Given the description of an element on the screen output the (x, y) to click on. 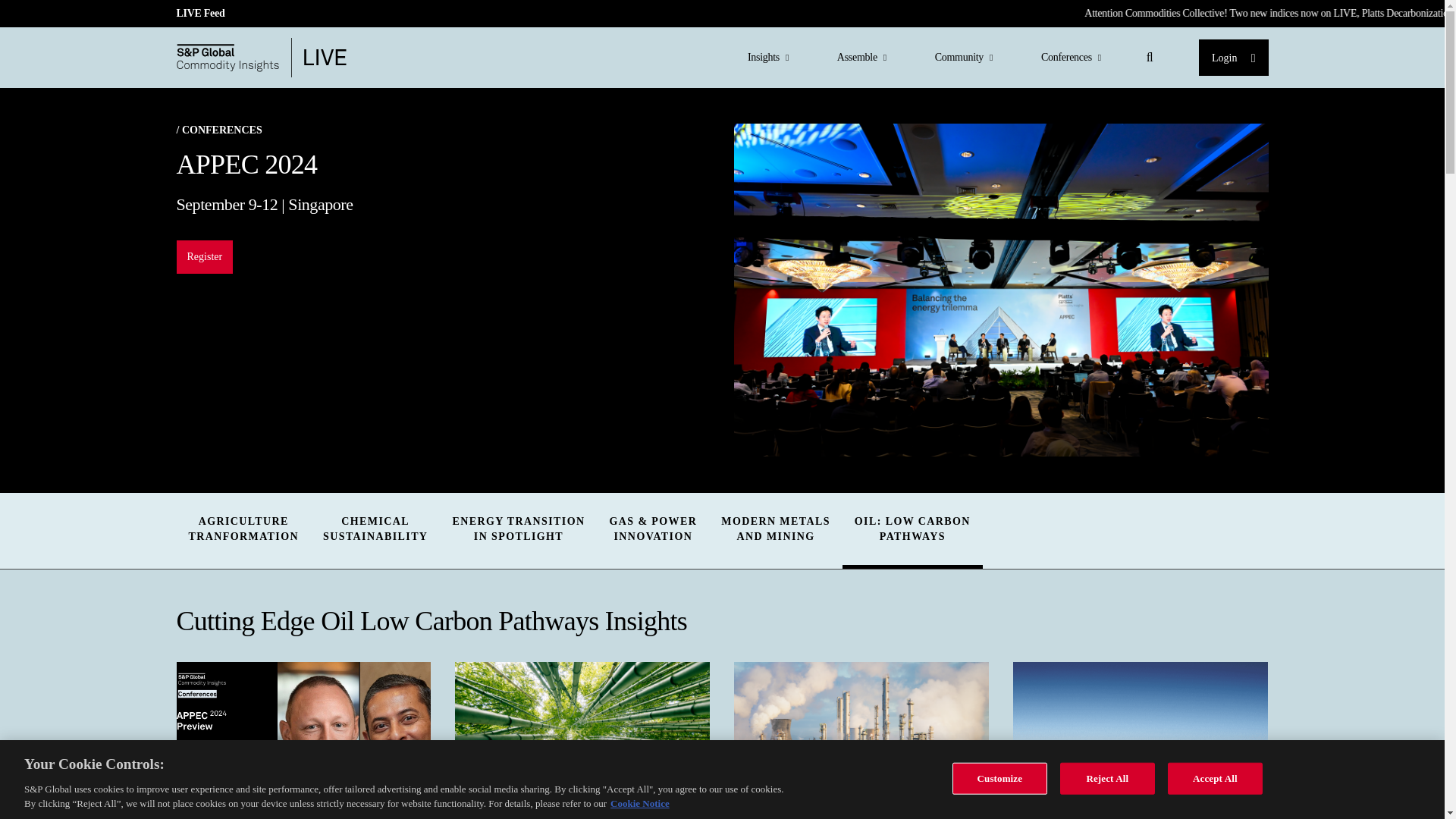
Login (1233, 57)
Register (375, 529)
